Given the description of an element on the screen output the (x, y) to click on. 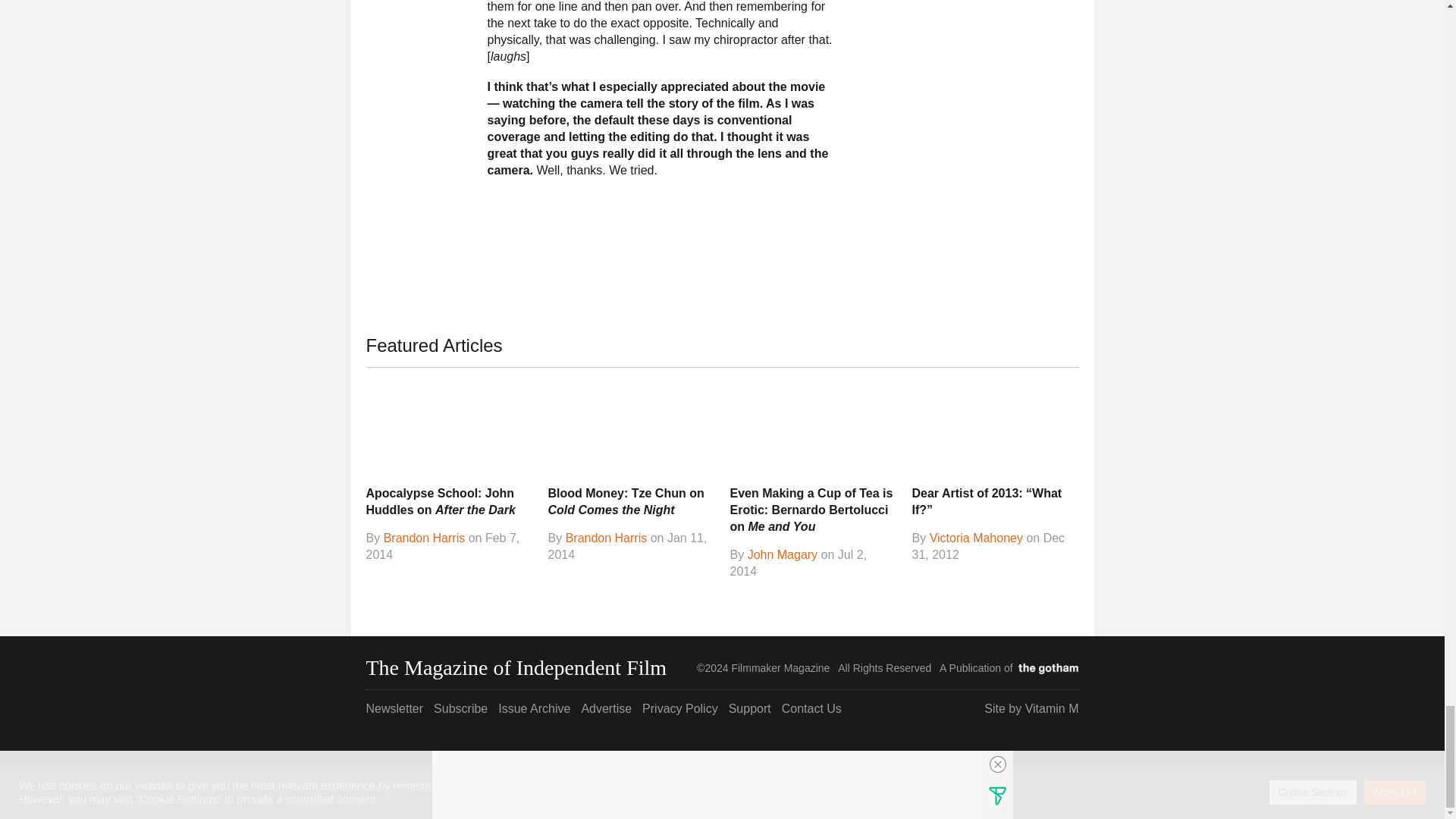
Posts by Brandon Harris (424, 538)
